Given the description of an element on the screen output the (x, y) to click on. 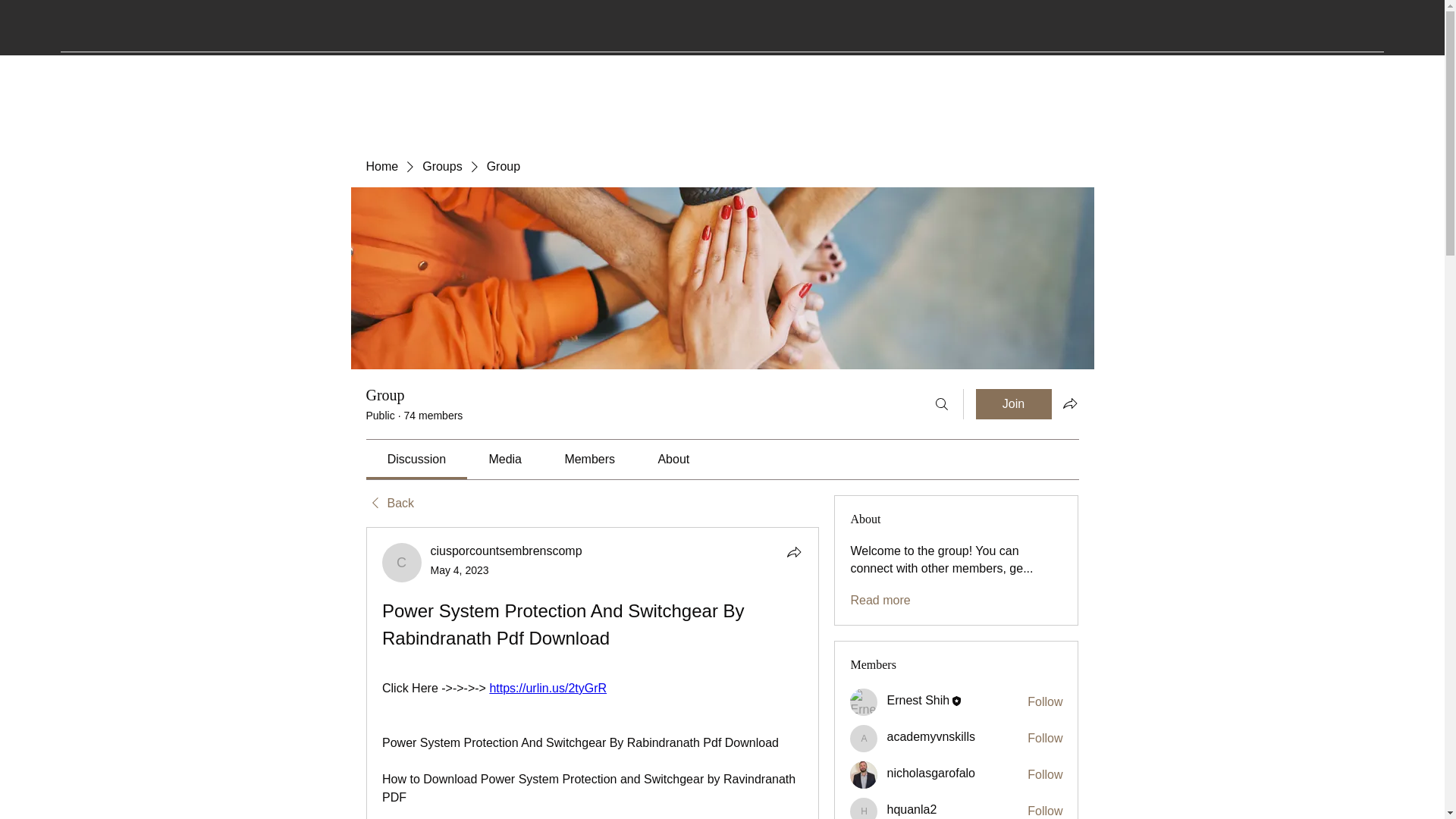
Ernest Shih (917, 699)
Read more (880, 600)
ciusporcountsembrenscomp (401, 562)
hquanla2 (863, 808)
nicholasgarofalo (930, 772)
academyvnskills (930, 736)
May 4, 2023 (459, 570)
Ernest Shih (863, 701)
Back (389, 503)
hquanla2 (911, 809)
Follow (1044, 701)
ciusporcountsembrenscomp (506, 550)
Groups (441, 166)
Join (1013, 404)
nicholasgarofalo (863, 774)
